Given the description of an element on the screen output the (x, y) to click on. 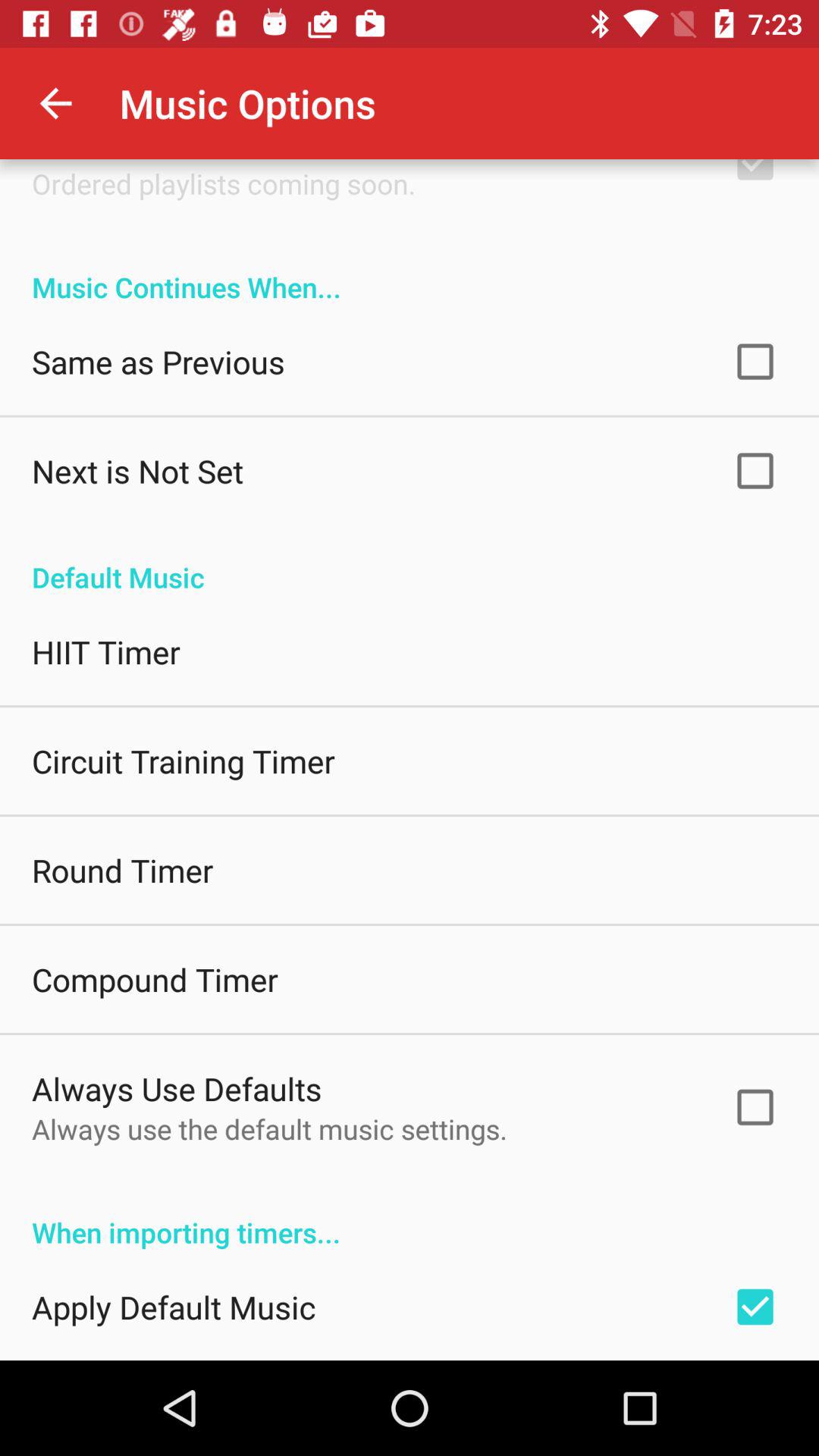
open icon above the shuffle music (55, 103)
